Given the description of an element on the screen output the (x, y) to click on. 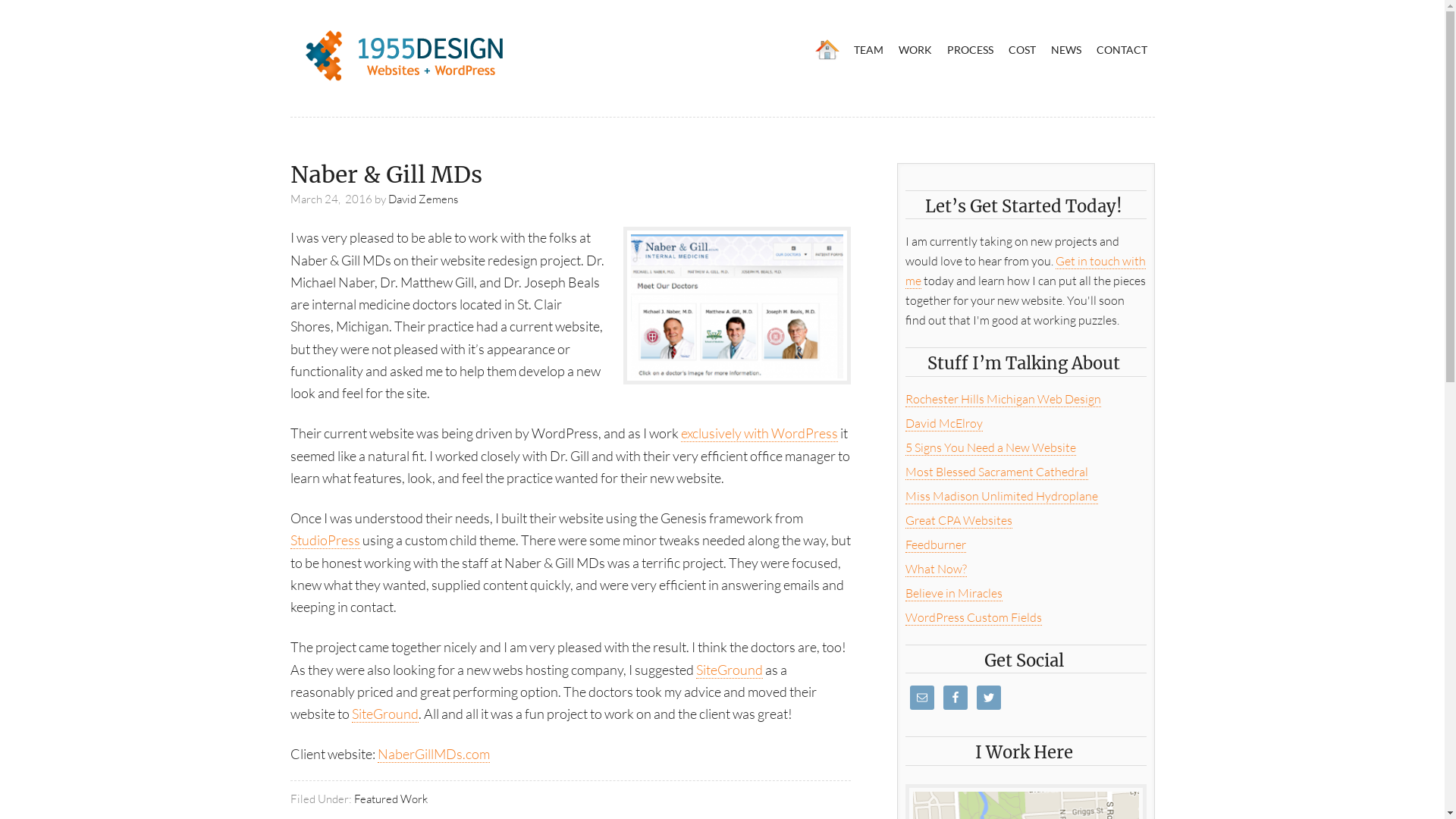
StudioPress Element type: text (324, 540)
Believe in Miracles Element type: text (953, 593)
Most Blessed Sacrament Cathedral Element type: text (996, 472)
exclusively with WordPress Element type: text (758, 433)
What Now? Element type: text (935, 569)
Great CPA Websites Element type: text (958, 520)
Rochester Hills Michigan Web Design Element type: text (1003, 399)
WordPress Custom Fields Element type: text (973, 617)
Miss Madison Unlimited Hydroplane Element type: text (1001, 496)
PROCESS Element type: text (969, 49)
SiteGround Element type: text (729, 669)
Feedburner Element type: text (935, 544)
David McElroy Element type: text (943, 423)
NaberGillMDs.com Element type: text (433, 753)
5 Signs You Need a New Website Element type: text (990, 447)
COST Element type: text (1022, 49)
NEWS Element type: text (1065, 49)
David Zemens Element type: text (423, 198)
CONTACT Element type: text (1121, 49)
    Element type: text (827, 49)
Featured Work Element type: text (389, 798)
WORK Element type: text (914, 49)
TEAM Element type: text (868, 49)
SiteGround Element type: text (384, 713)
Get in touch with me Element type: text (1025, 270)
